Given the description of an element on the screen output the (x, y) to click on. 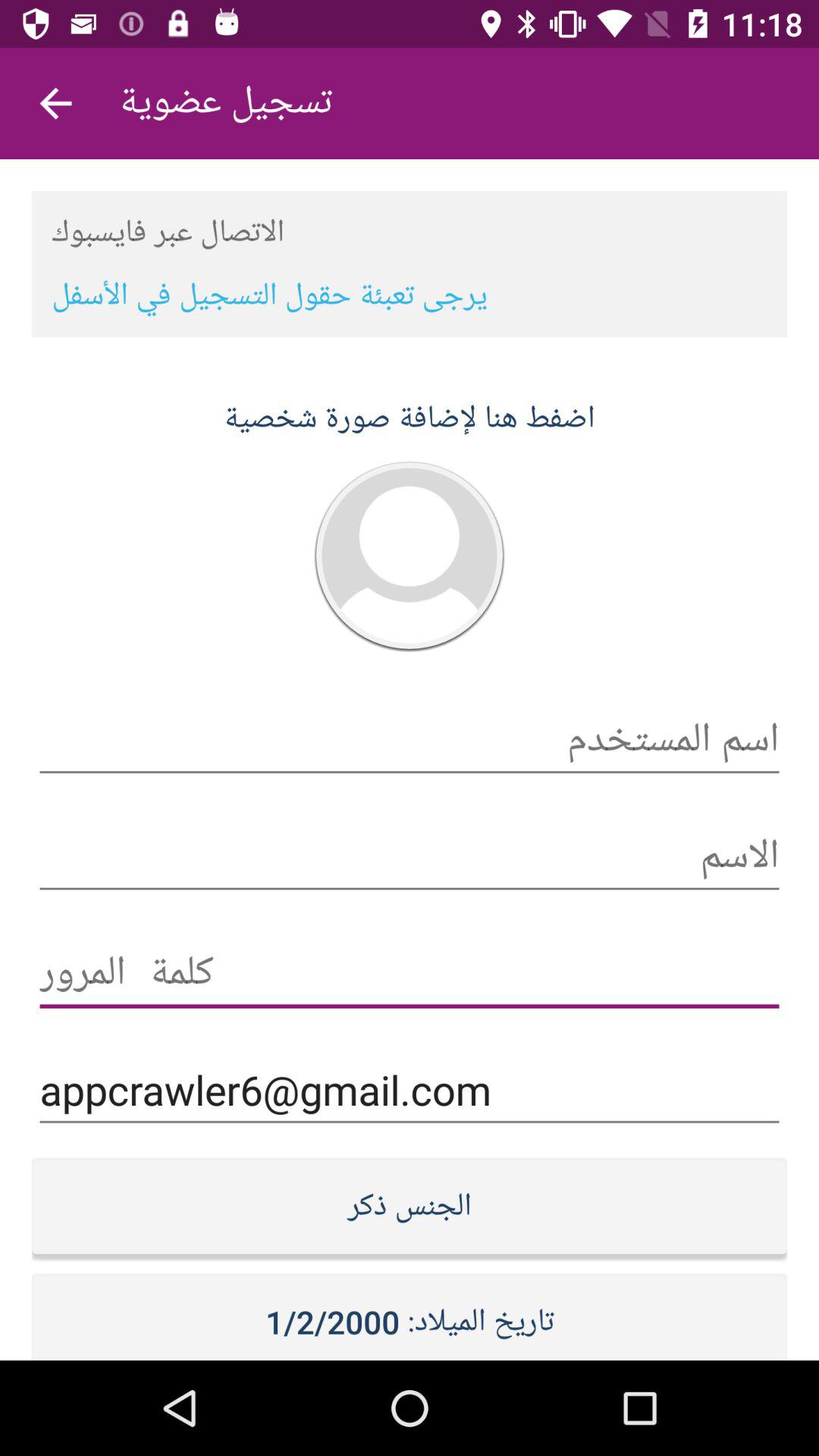
turn on the grace (409, 973)
